Given the description of an element on the screen output the (x, y) to click on. 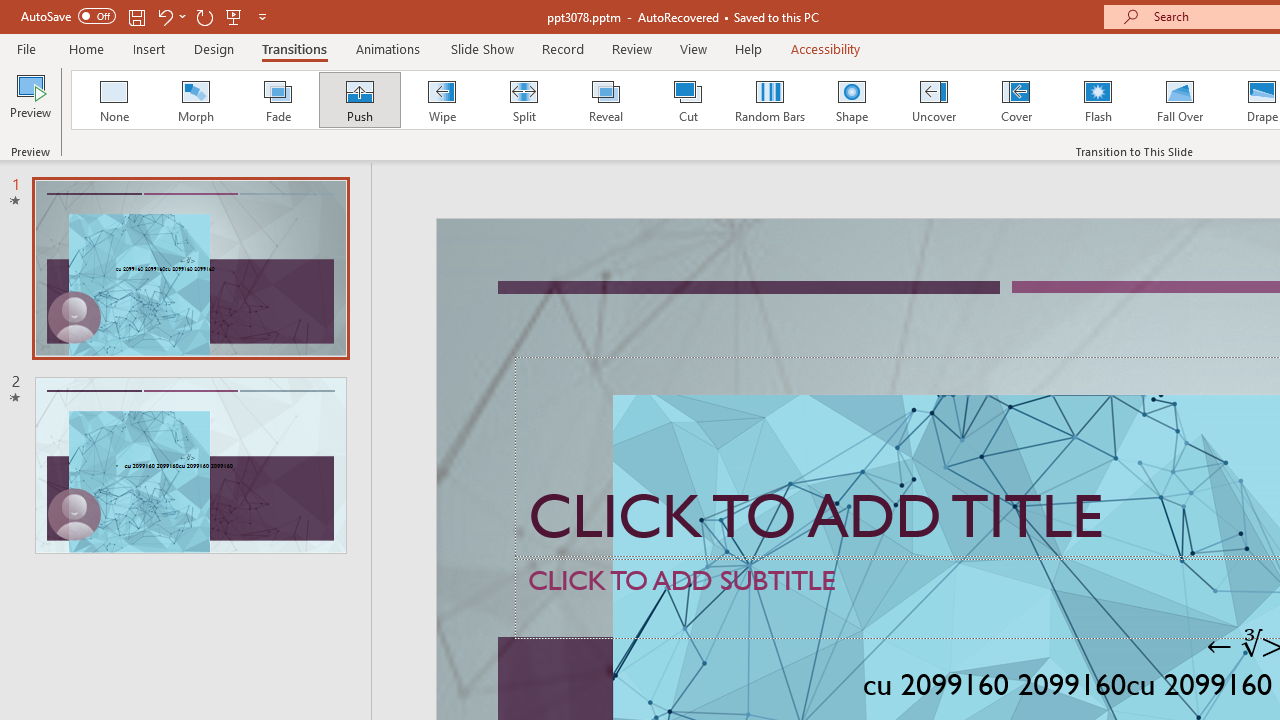
None (113, 100)
Reveal (605, 100)
Wipe (441, 100)
